Given the description of an element on the screen output the (x, y) to click on. 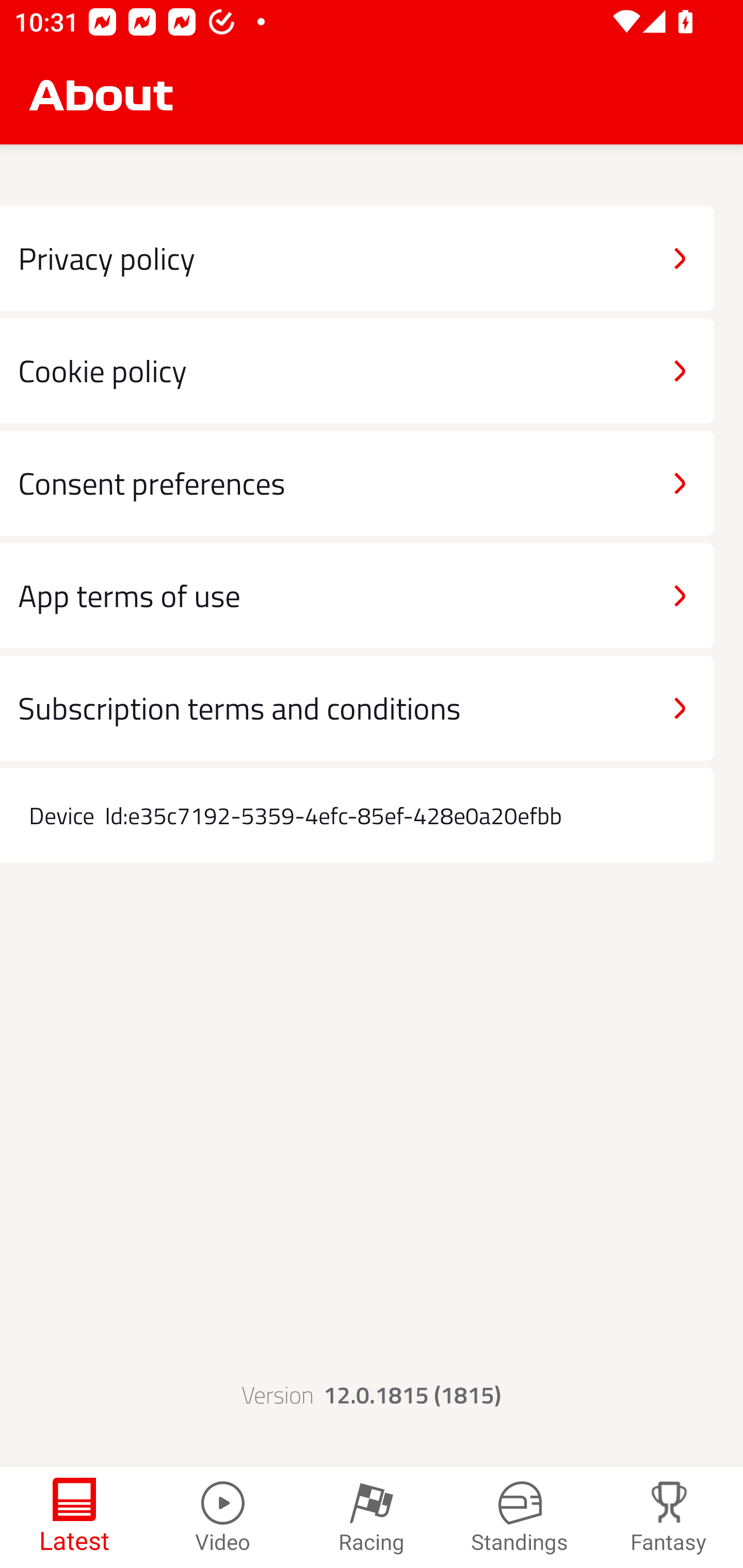
Privacy policy (357, 257)
Cookie policy (357, 370)
Consent preferences (357, 483)
App terms of use (357, 594)
Subscription terms and conditions (357, 707)
Device  Id:e35c7192-5359-4efc-85ef-428e0a20efbb (357, 815)
Video (222, 1517)
Racing (371, 1517)
Standings (519, 1517)
Fantasy (668, 1517)
